Given the description of an element on the screen output the (x, y) to click on. 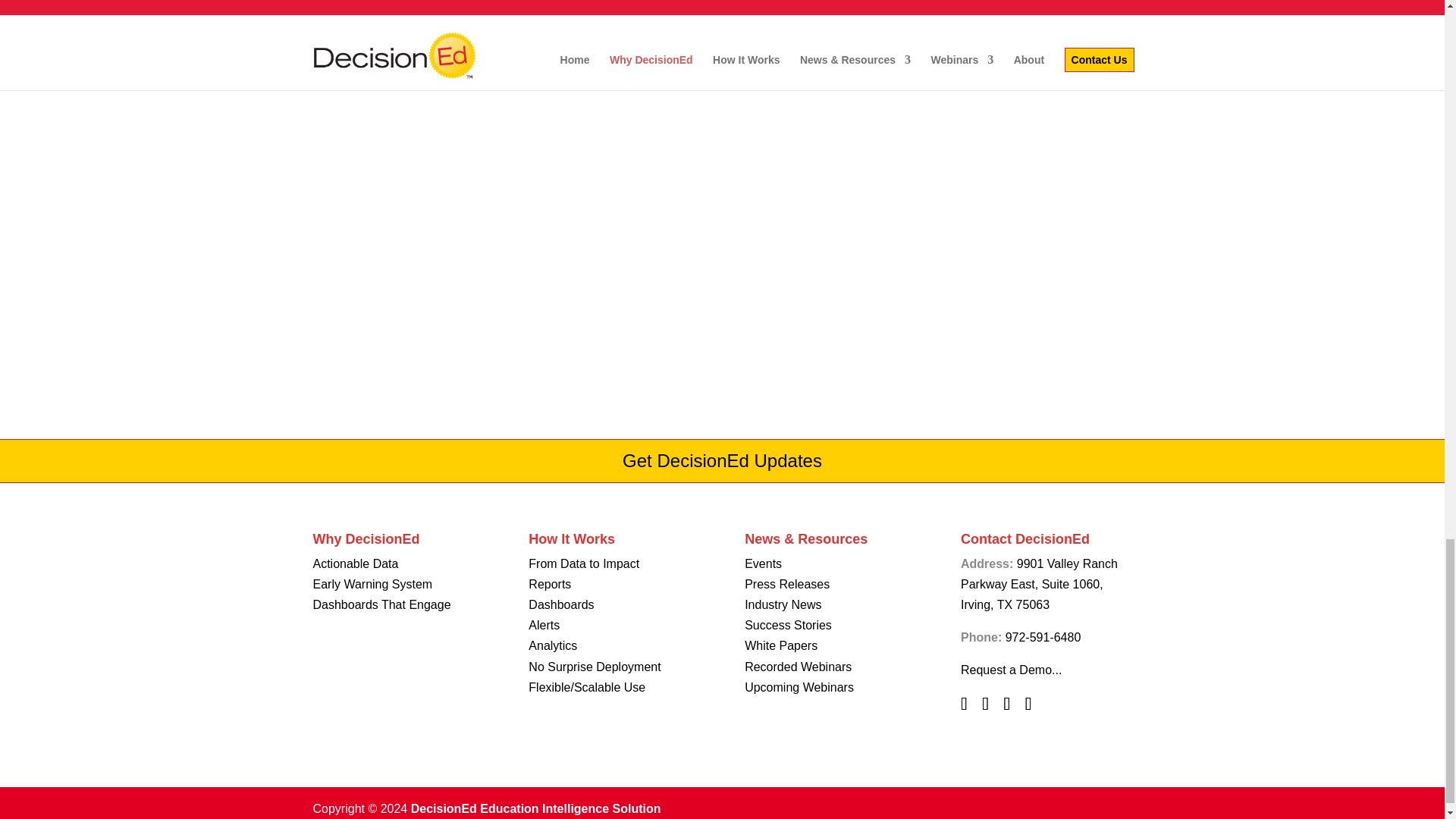
Dashboards (561, 604)
Early Warning System (372, 584)
Dashboards That Engage (381, 604)
From Data to Impact (583, 563)
Reports (549, 584)
Get DecisionEd Updates (722, 460)
Actionable Data (355, 563)
